Given the description of an element on the screen output the (x, y) to click on. 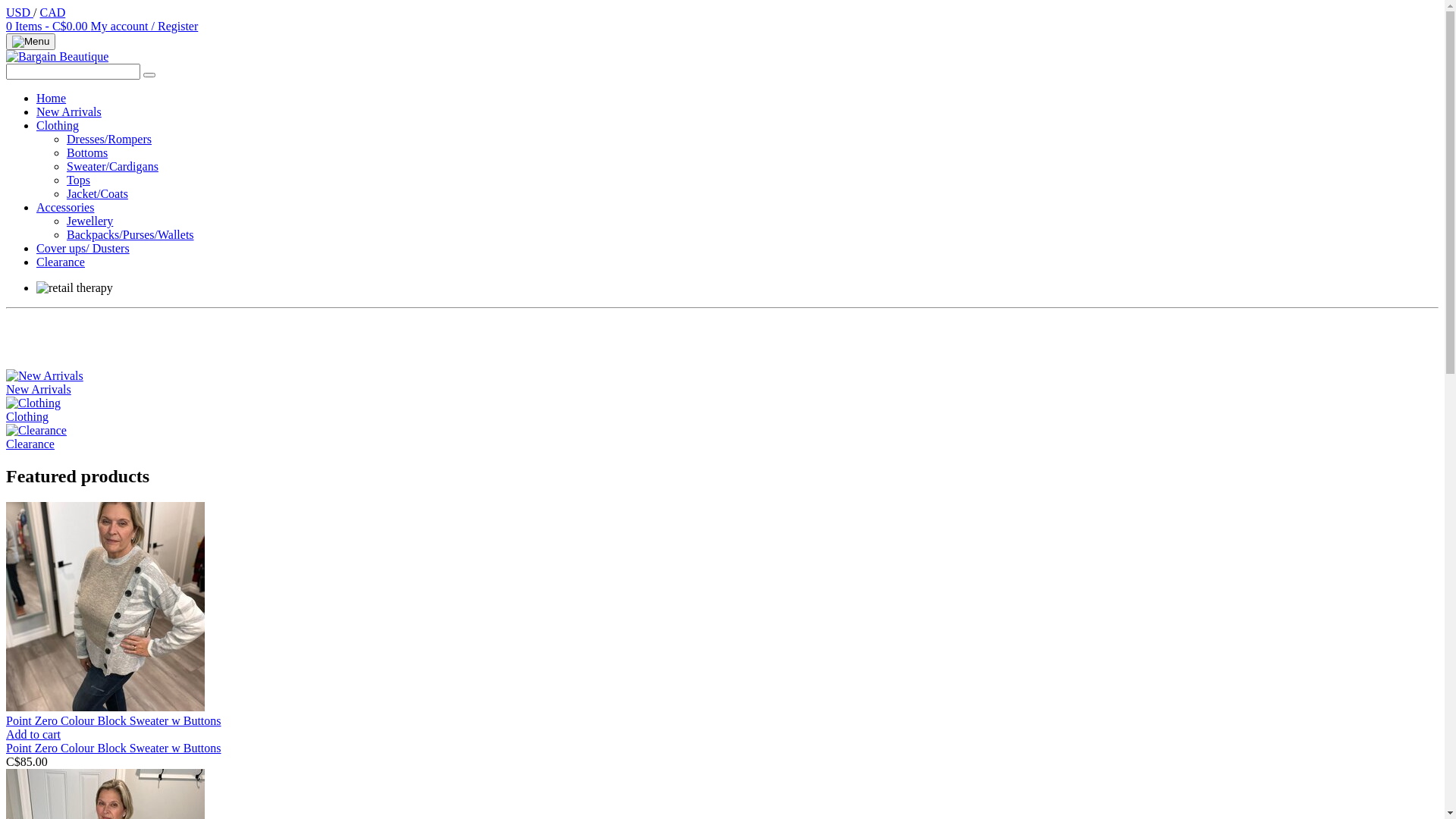
Tops Element type: text (78, 179)
Home Element type: text (50, 97)
Point Zero Point Zero Colour Block Sweater w Buttons Element type: hover (105, 706)
Add to cart Element type: text (33, 734)
Clothing Element type: text (57, 125)
Clothing Element type: hover (33, 403)
Clothing Element type: text (722, 409)
Bargain Beautique  Element type: hover (57, 56)
USD Element type: text (19, 12)
My account / Register Element type: text (144, 25)
Point Zero Colour Block Sweater w Buttons Element type: text (113, 747)
Point Zero Colour Block Sweater w Buttons Element type: text (722, 727)
Accessories Element type: text (65, 206)
Jacket/Coats Element type: text (97, 193)
0 Items - C$0.00 Element type: text (48, 25)
Bottoms Element type: text (86, 152)
Clearance Element type: text (722, 437)
Clearance Element type: text (60, 261)
Clearance Element type: hover (36, 430)
CAD Element type: text (52, 12)
Sweater/Cardigans Element type: text (112, 166)
New Arrivals Element type: text (722, 382)
New Arrivals Element type: hover (44, 375)
Point Zero Point Zero Colour Block Sweater w Buttons Element type: hover (105, 606)
Search Element type: hover (149, 74)
Cover ups/ Dusters Element type: text (82, 247)
Jewellery Element type: text (89, 220)
Dresses/Rompers Element type: text (108, 138)
New Arrivals Element type: text (68, 111)
Backpacks/Purses/Wallets Element type: text (130, 234)
